Given the description of an element on the screen output the (x, y) to click on. 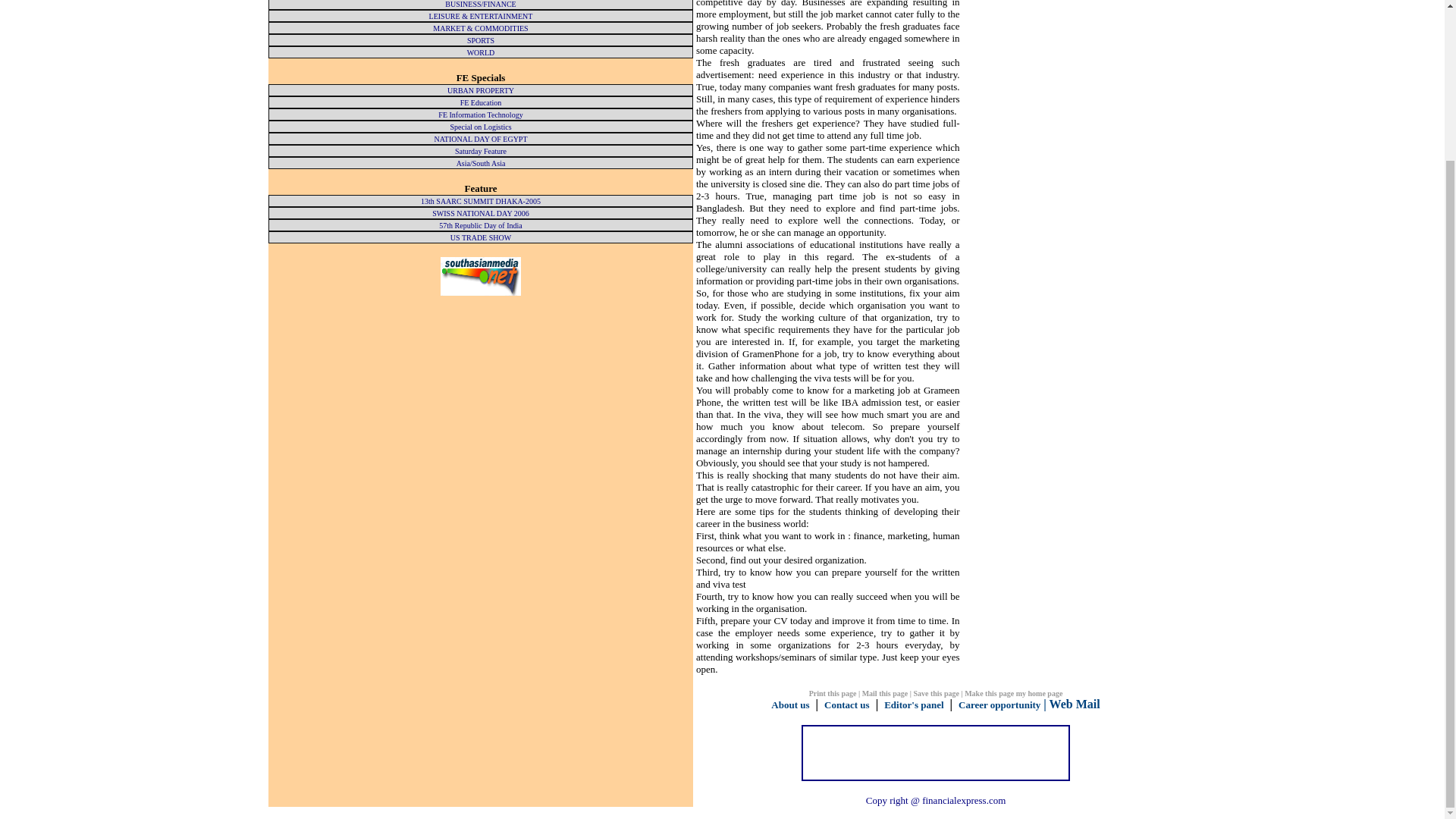
US TRADE SHOW (480, 237)
Make this page my home page (1012, 693)
57th Republic Day of India (480, 225)
SPORTS (481, 40)
FE Education (481, 102)
About us (790, 704)
Print this page (833, 693)
SWISS NATIONAL DAY 2006 (480, 213)
Mail this page (884, 693)
Career opportunity (999, 704)
NATIONAL DAY OF EGYPT (480, 139)
Editor's panel (913, 704)
URBAN PROPERTY (479, 90)
Special on Logistics (480, 126)
Saturday Feature (480, 151)
